Given the description of an element on the screen output the (x, y) to click on. 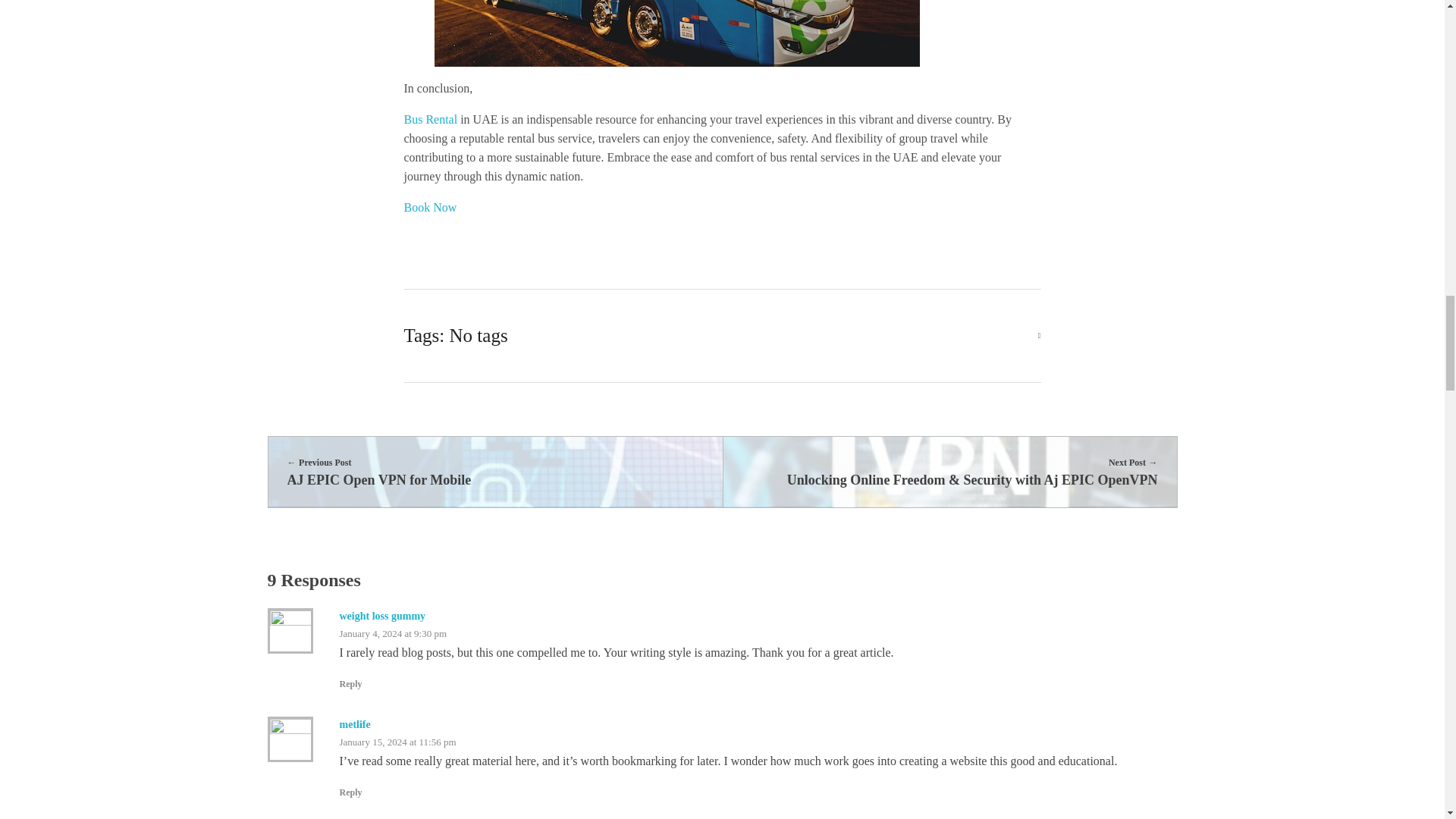
Reply (350, 683)
metlife (355, 724)
Reply (350, 792)
weight loss gummy (382, 615)
Book Now (430, 206)
January 4, 2024 at 9:30 pm (392, 633)
January 15, 2024 at 11:56 pm (398, 741)
Bus Rental (494, 471)
